Given the description of an element on the screen output the (x, y) to click on. 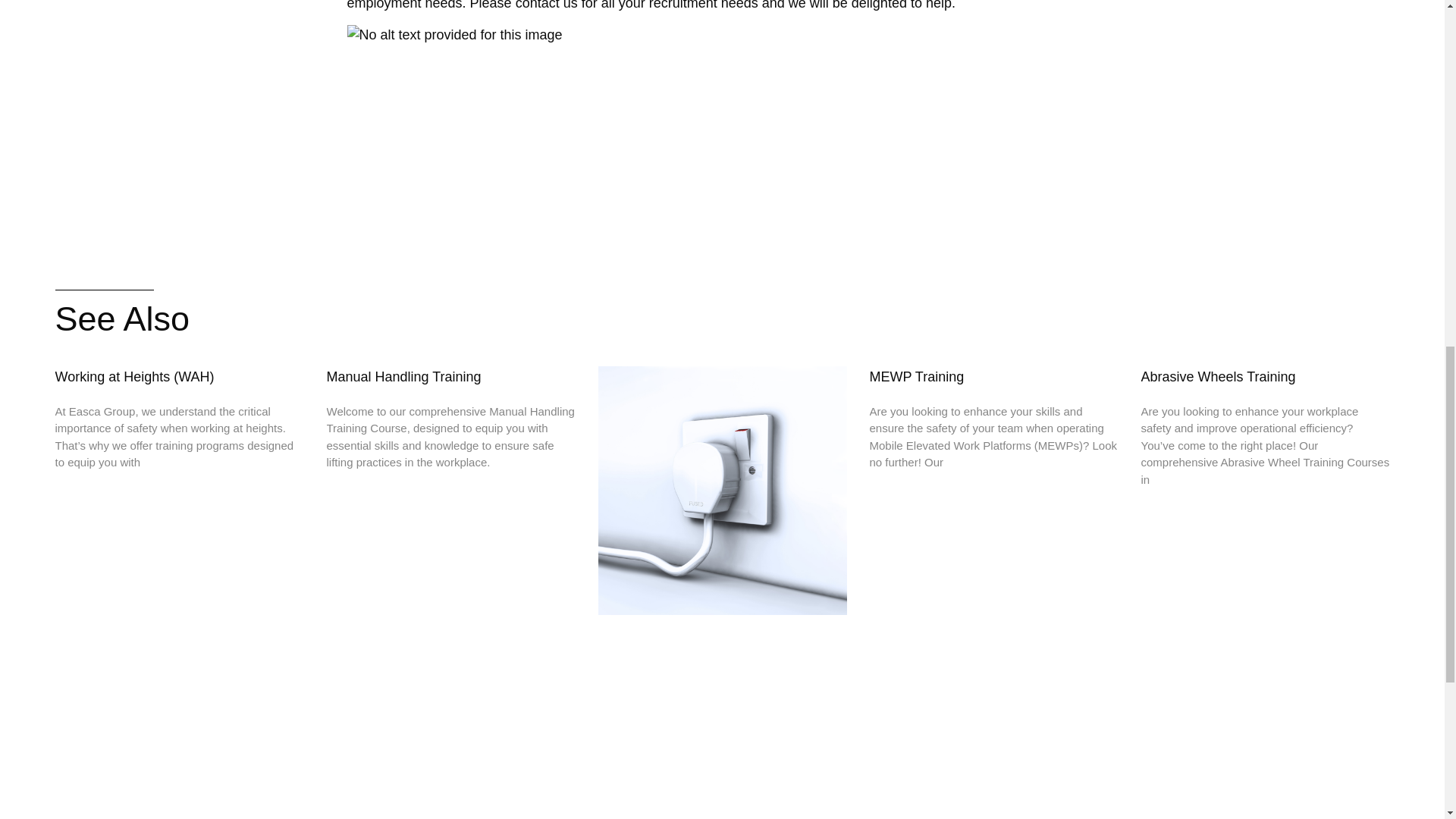
Abrasive Wheels Training (1217, 376)
Manual Handling Training (403, 376)
MEWP Training (916, 376)
